Given the description of an element on the screen output the (x, y) to click on. 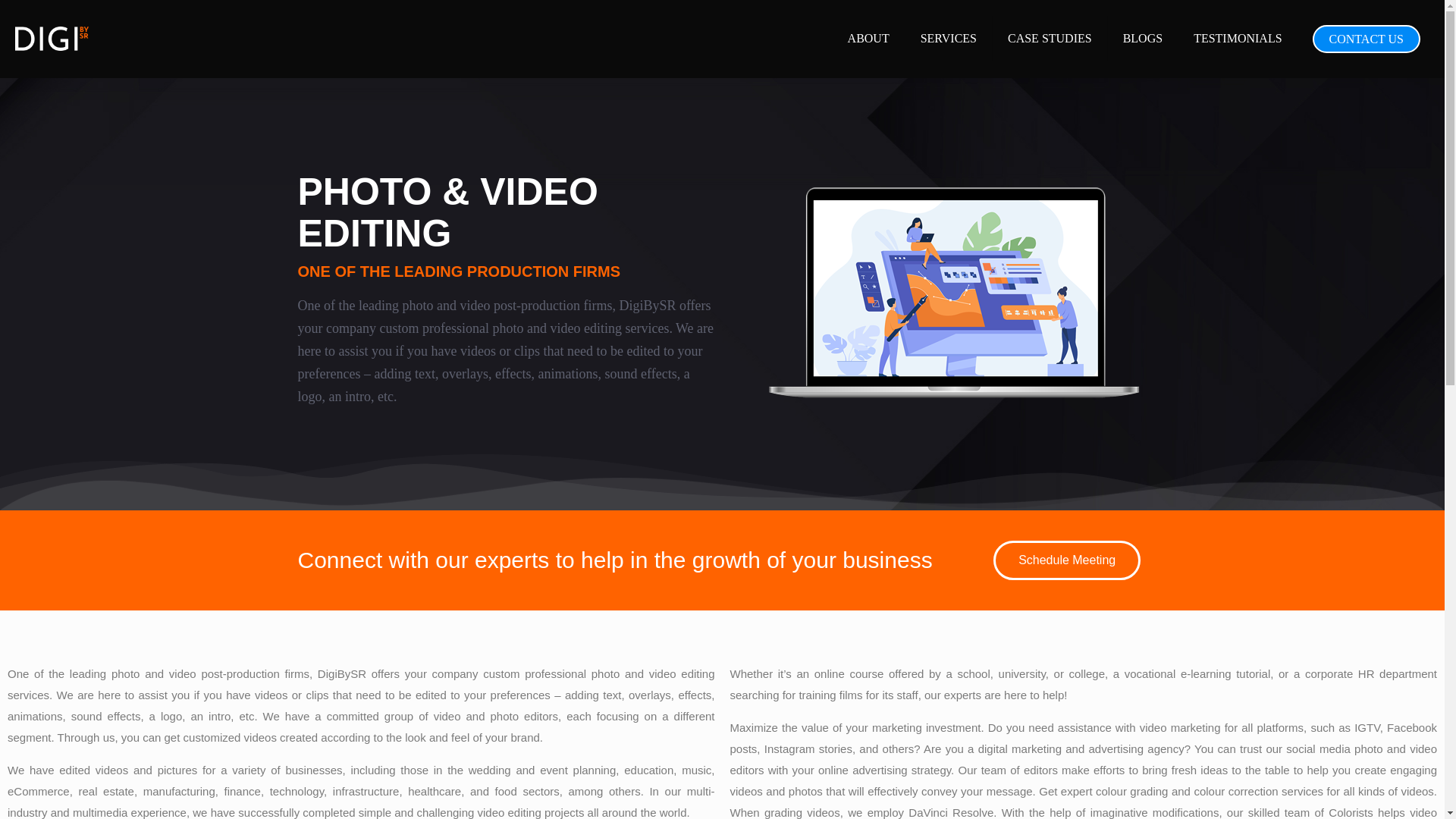
CONTACT US (1367, 38)
DIGI BY SR (51, 38)
ABOUT (868, 38)
Schedule Meeting (1066, 559)
TESTIMONIALS (1237, 38)
CASE STUDIES (1050, 38)
CONTACT US (1367, 38)
SERVICES (948, 38)
BLOGS (1142, 38)
